Given the description of an element on the screen output the (x, y) to click on. 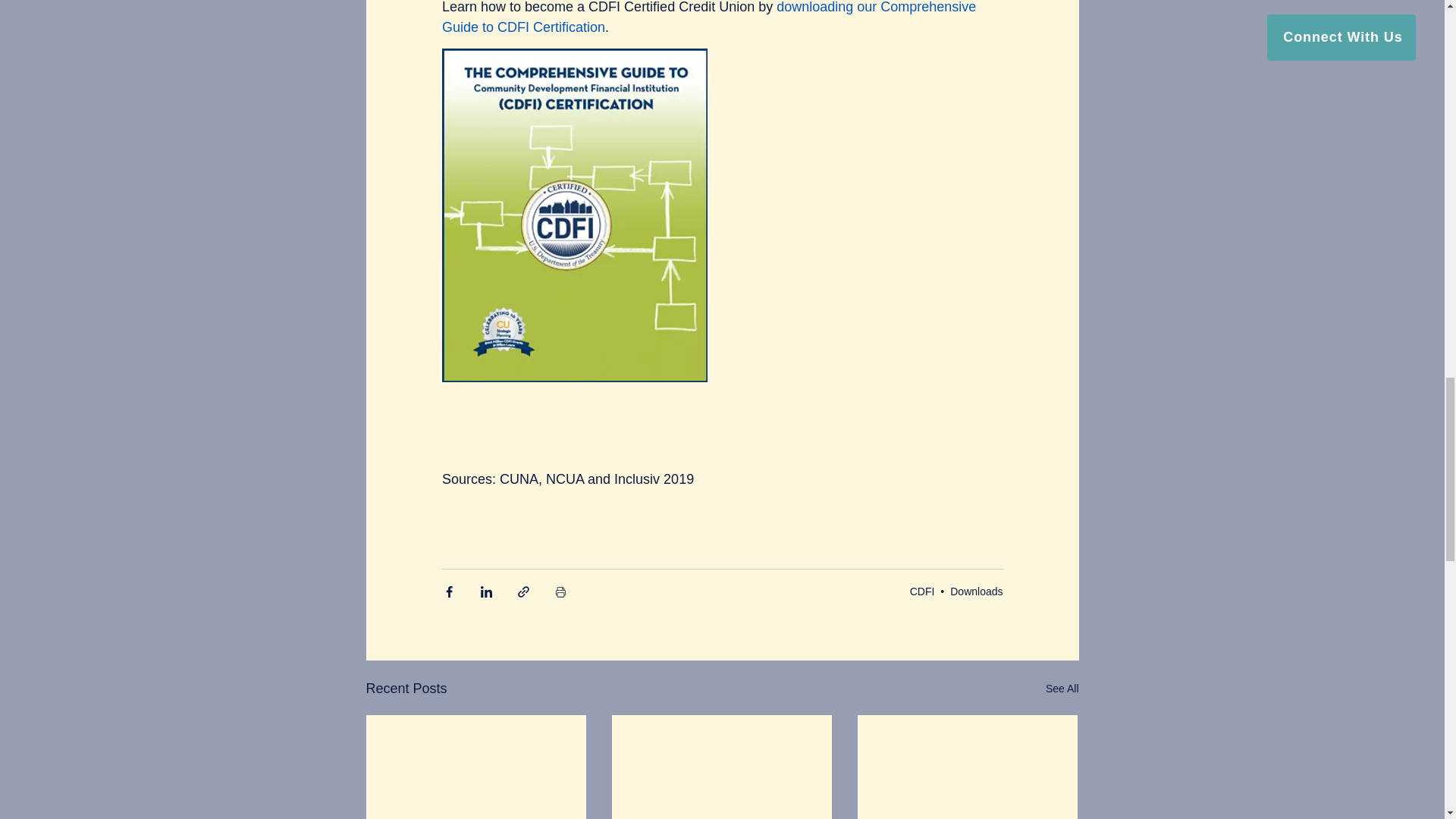
See All (1061, 689)
CDFI (922, 591)
downloading our Comprehensive Guide to CDFI Certification (709, 17)
Downloads (976, 591)
